Given the description of an element on the screen output the (x, y) to click on. 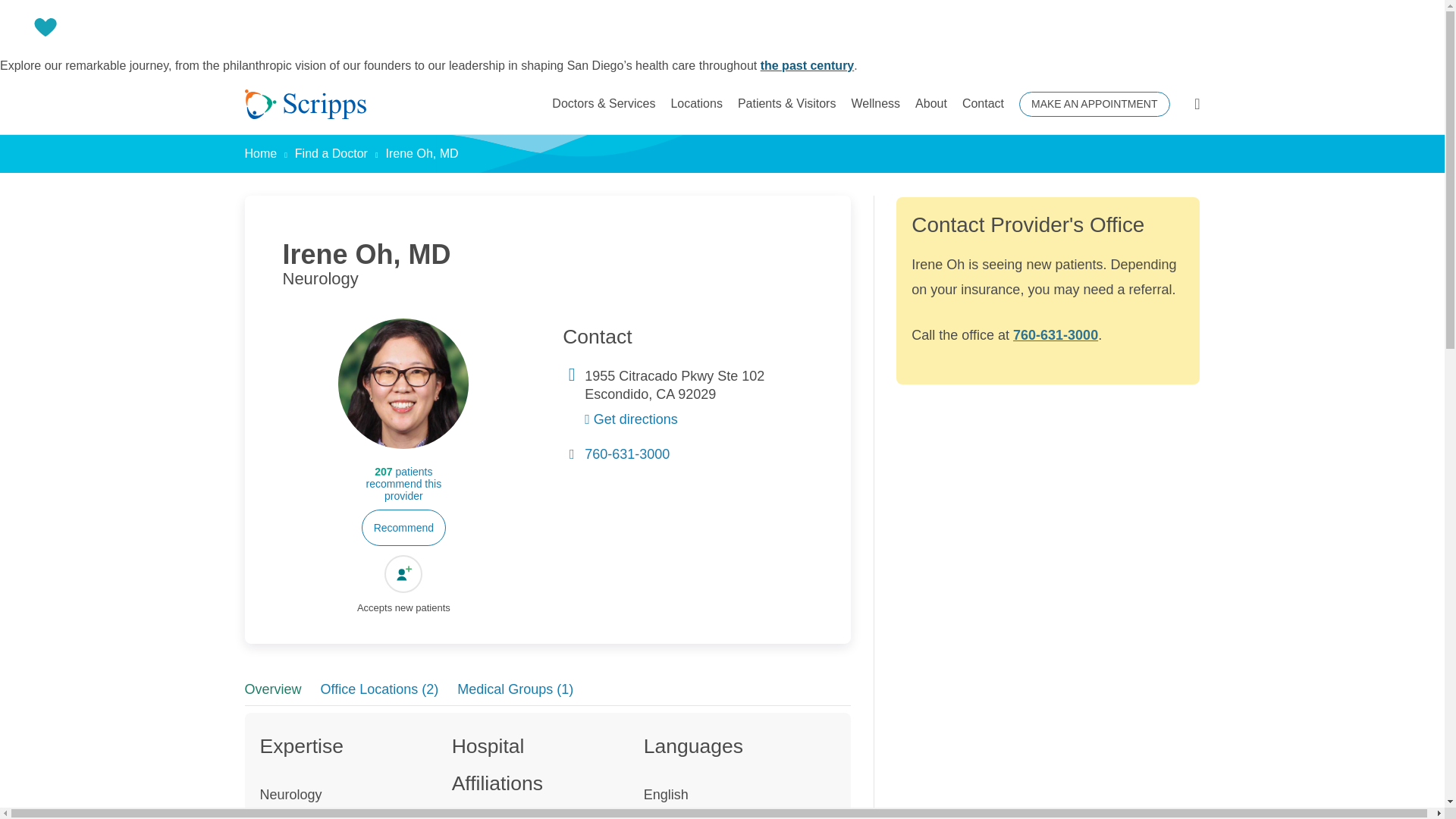
Locations (695, 104)
Recommend (403, 527)
California (665, 394)
760-631-3000 (627, 453)
Wellness (874, 104)
92029 (697, 394)
the past century (807, 65)
